Given the description of an element on the screen output the (x, y) to click on. 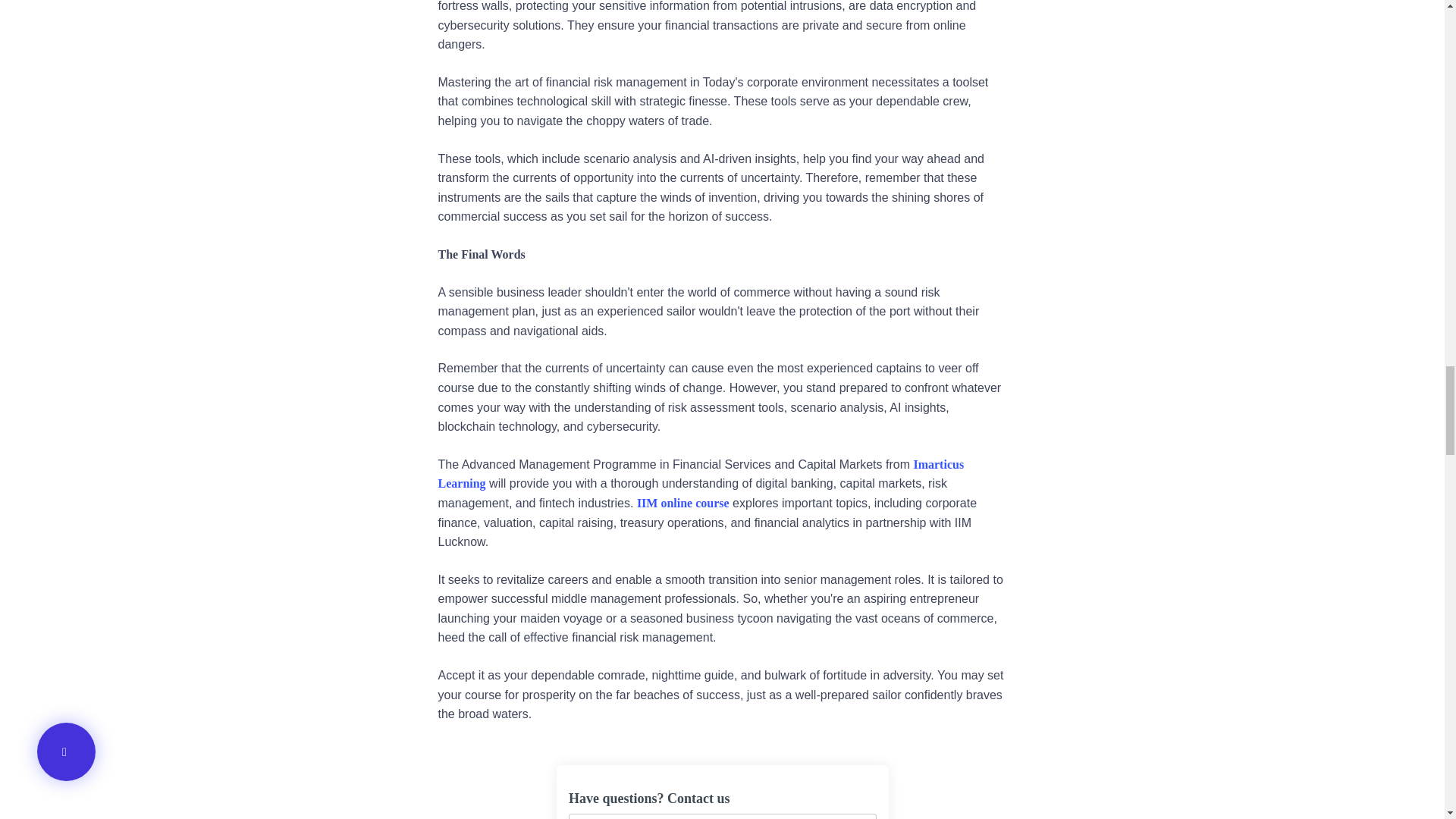
IIM online course (683, 502)
Imarticus Learning (700, 473)
